Given the description of an element on the screen output the (x, y) to click on. 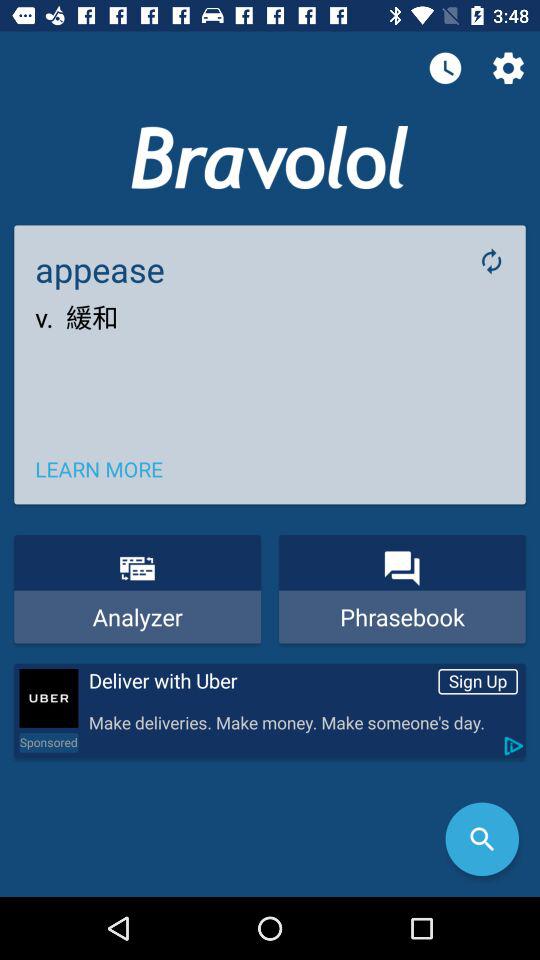
choose the icon above the make deliveries make icon (259, 681)
